Given the description of an element on the screen output the (x, y) to click on. 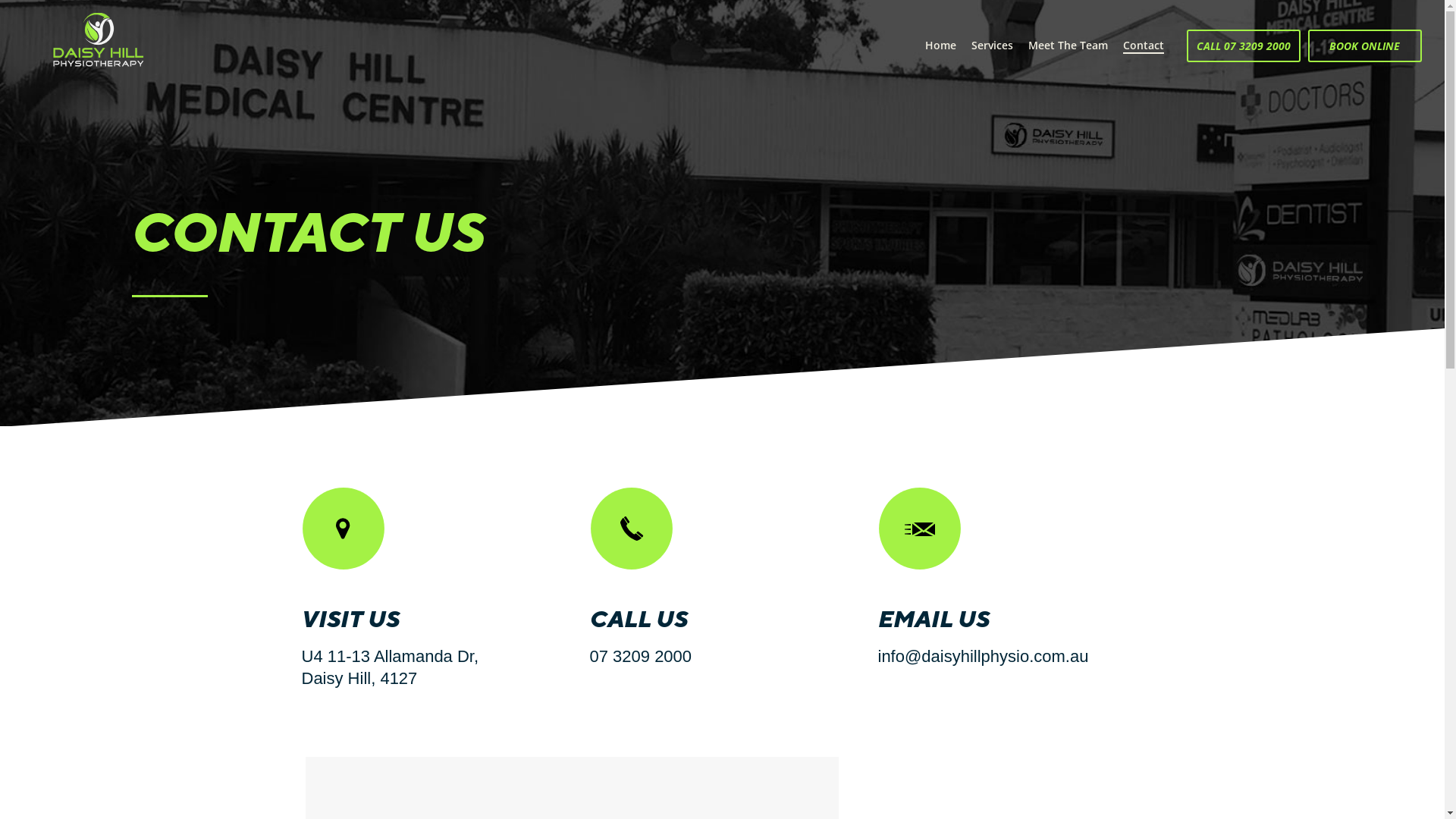
Meet The Team Element type: text (1067, 45)
Contact Element type: text (1143, 45)
BOOK ONLINE Element type: text (1364, 45)
Empower, every patient, every time. Element type: hover (98, 39)
Home Element type: text (940, 45)
Services Element type: text (991, 45)
CALL 07 3209 2000 Element type: text (1243, 45)
